Given the description of an element on the screen output the (x, y) to click on. 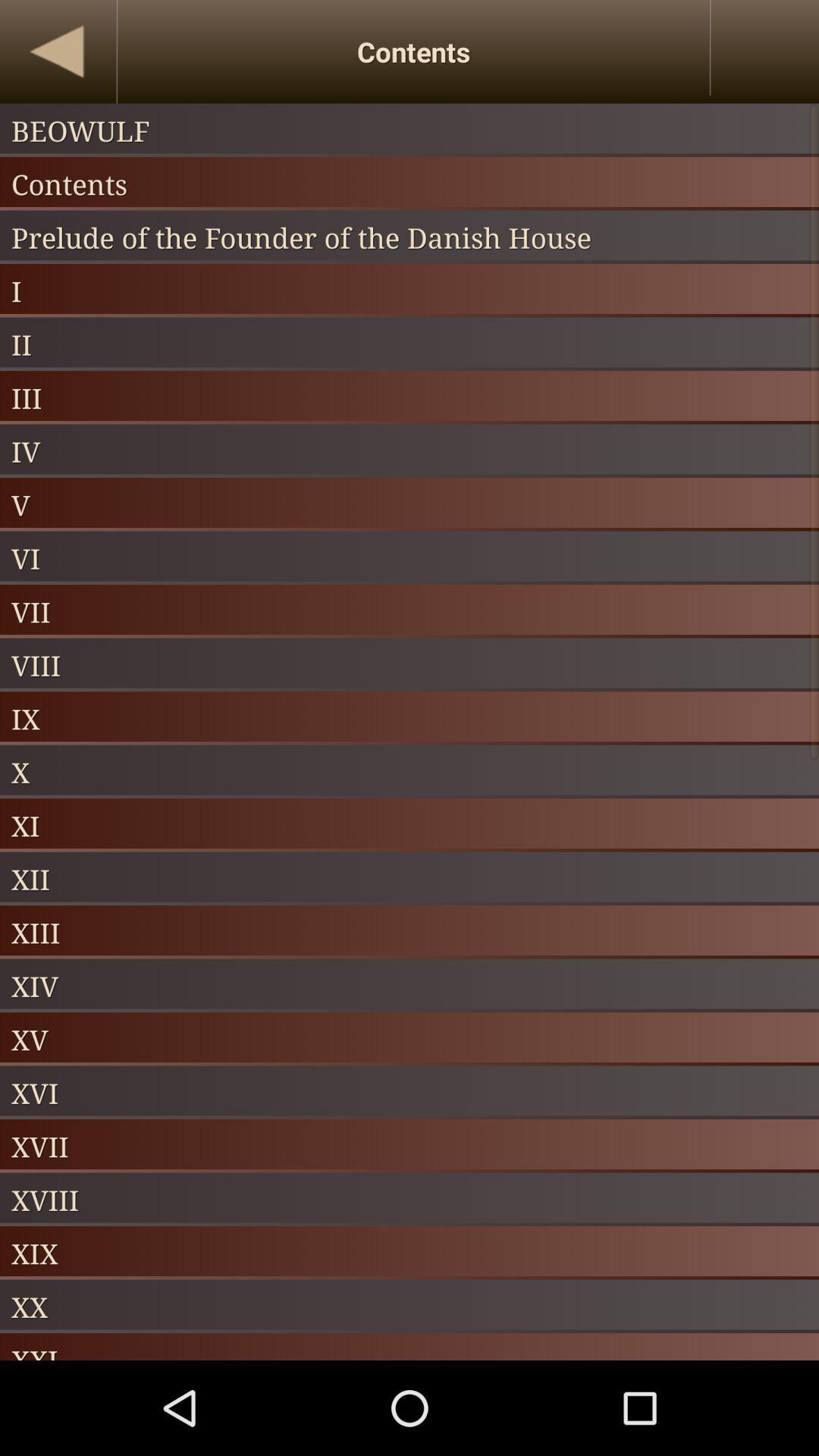
swipe to xiii app (409, 932)
